Given the description of an element on the screen output the (x, y) to click on. 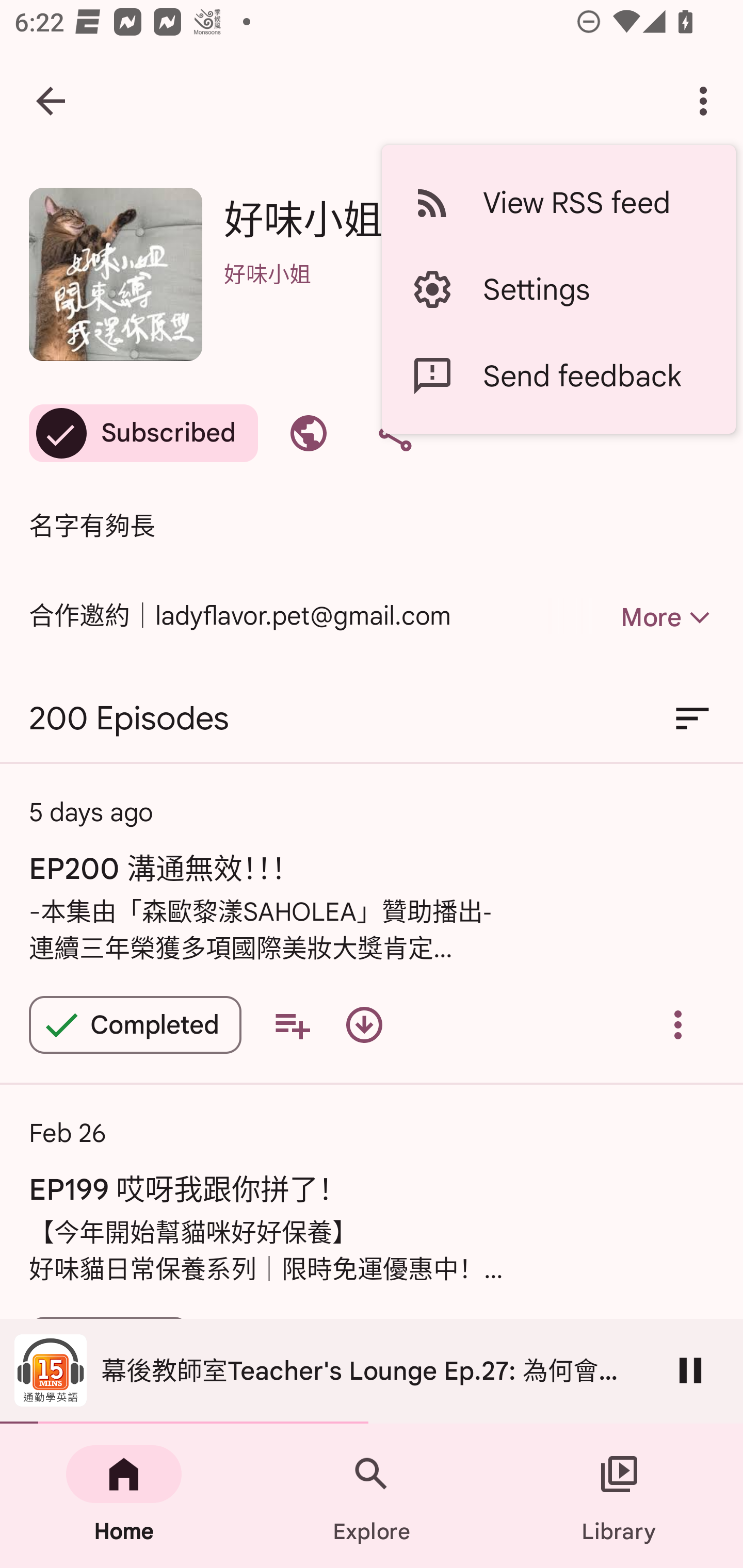
View RSS feed (558, 202)
Settings (558, 289)
Send feedback (558, 375)
